Given the description of an element on the screen output the (x, y) to click on. 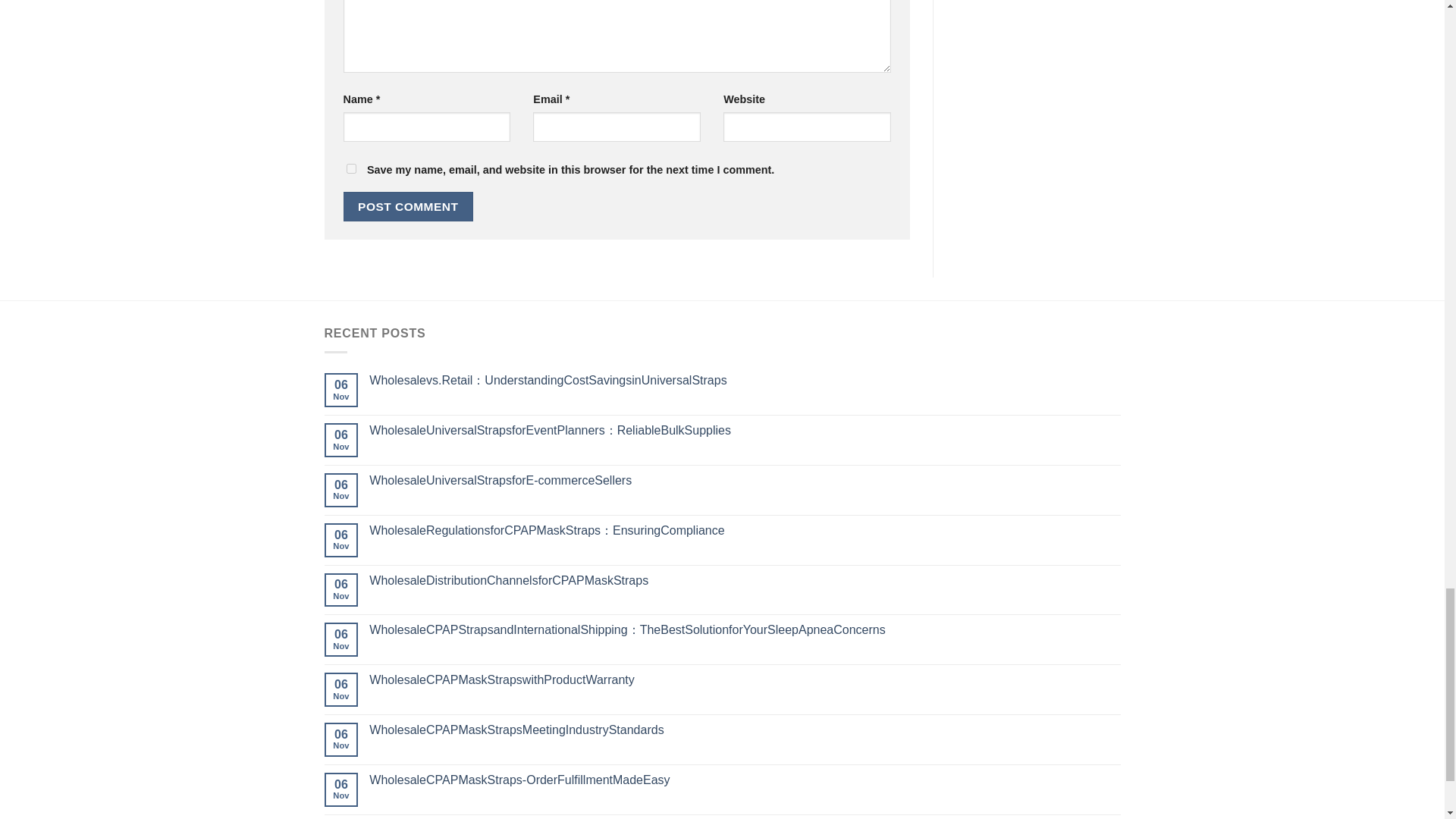
WholesaleUniversalStrapsforE-commerceSellers (744, 480)
WholesaleCPAPMaskStraps-OrderFulfillmentMadeEasy (744, 780)
WholesaleCPAPMaskStrapsMeetingIndustryStandards (744, 729)
yes (350, 168)
Post Comment (407, 206)
WholesaleCPAPMaskStrapswithProductWarranty (744, 679)
Post Comment (407, 206)
WholesaleDistributionChannelsforCPAPMaskStraps (744, 580)
